Given the description of an element on the screen output the (x, y) to click on. 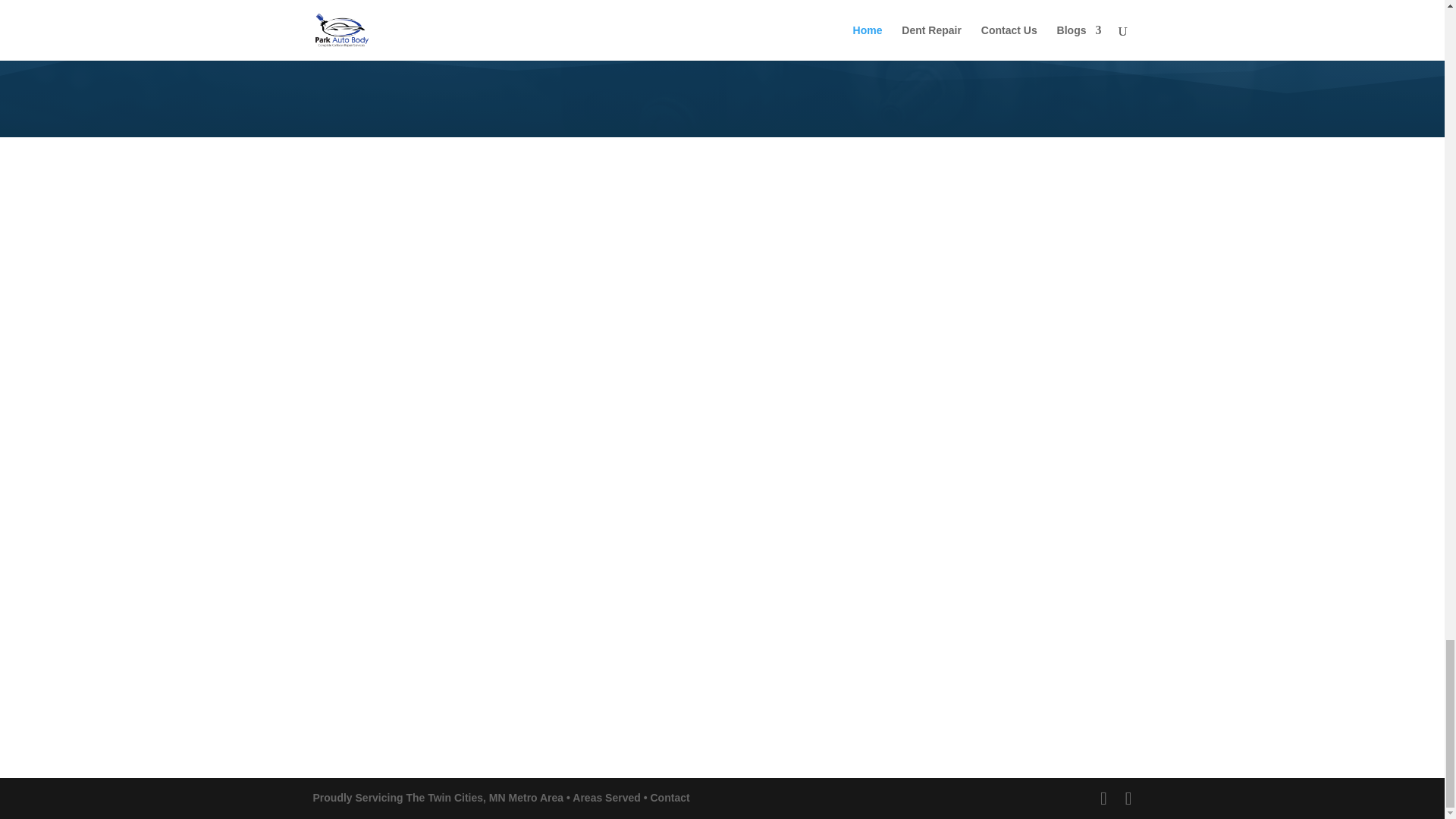
Areas Served (606, 797)
Contact (670, 797)
Twin Cities, MN (466, 797)
Contact (670, 797)
Areas Served (606, 797)
